Given the description of an element on the screen output the (x, y) to click on. 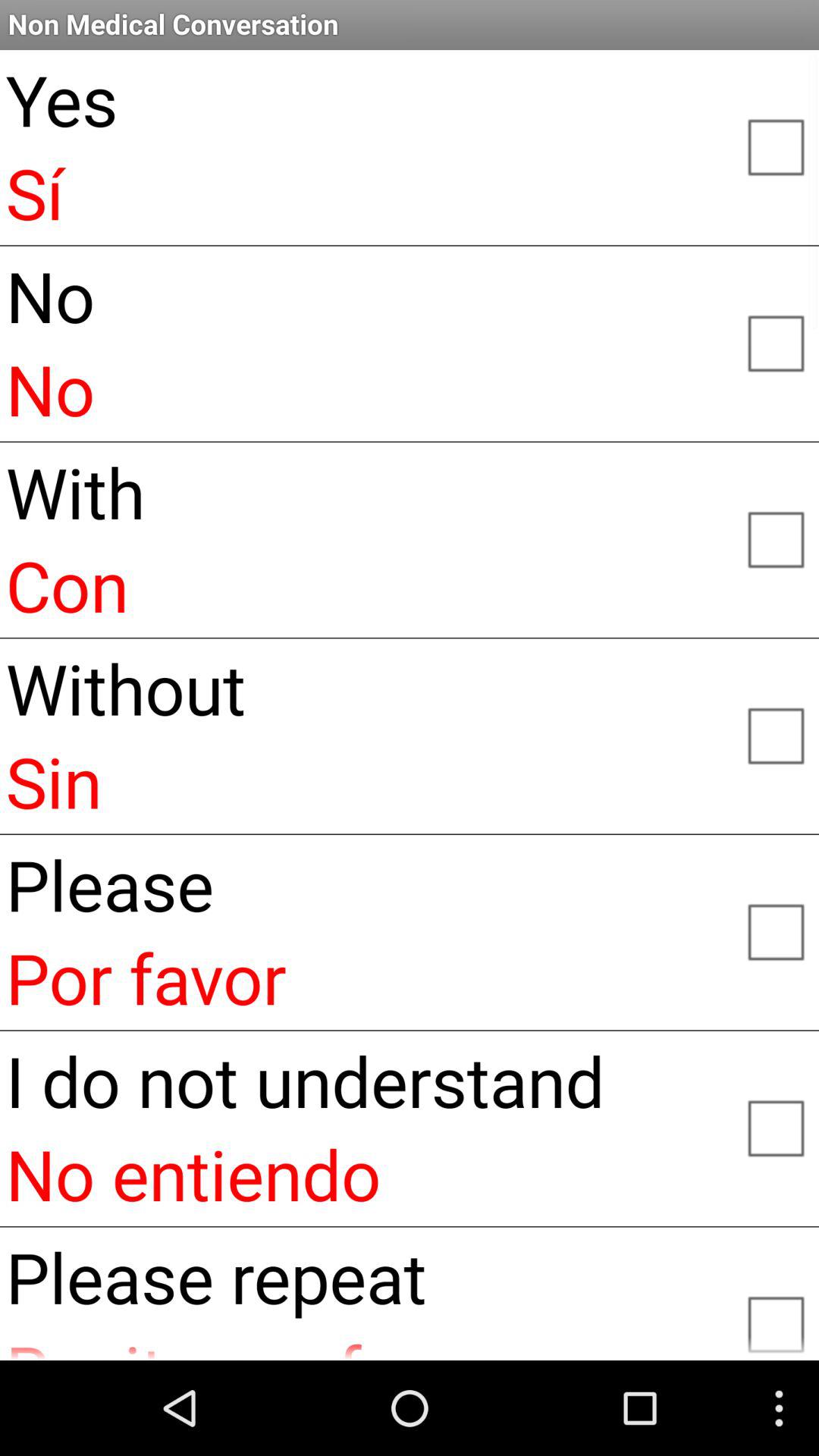
select this option (775, 538)
